Given the description of an element on the screen output the (x, y) to click on. 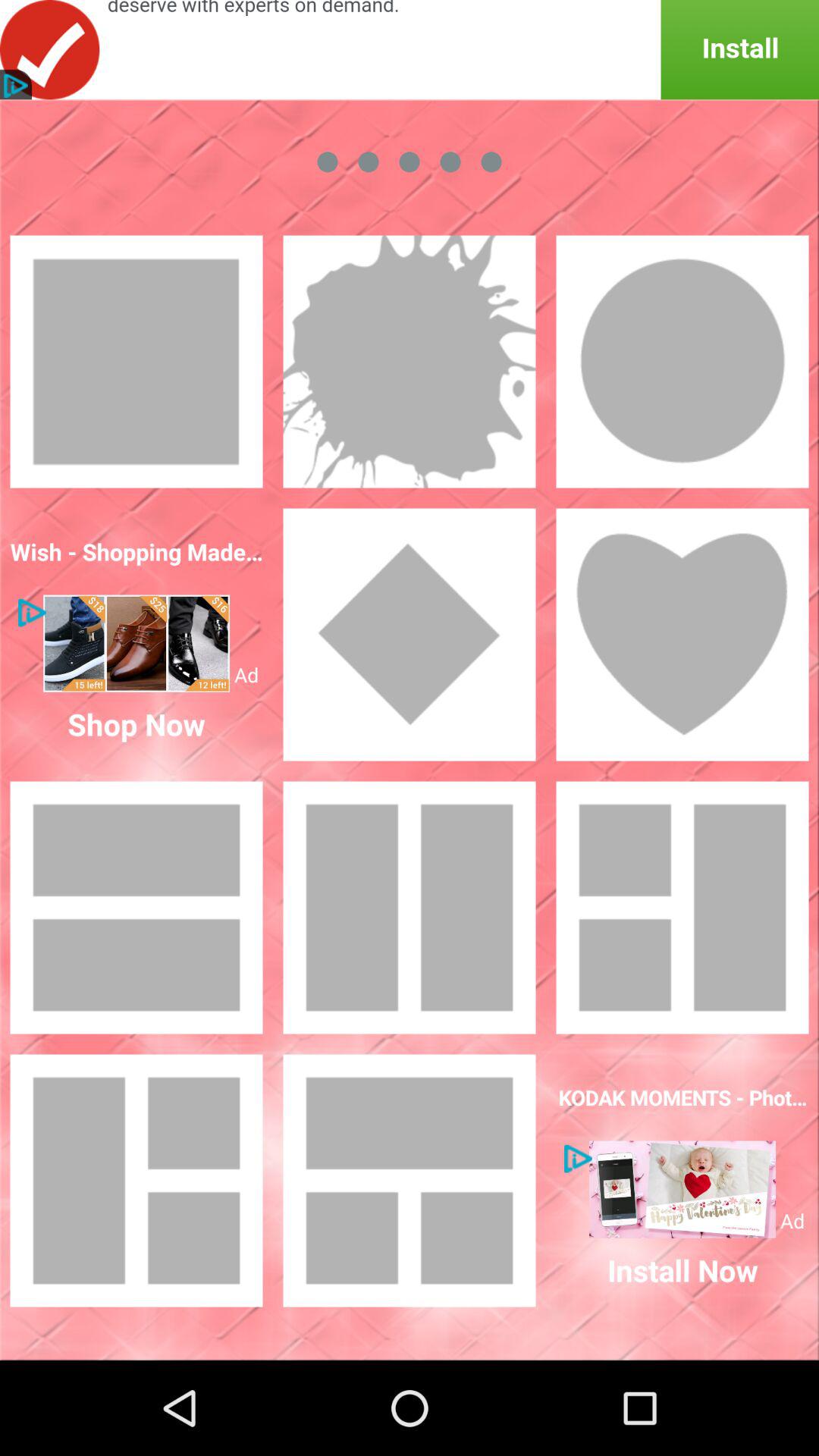
shows one of the optionn (682, 634)
